Given the description of an element on the screen output the (x, y) to click on. 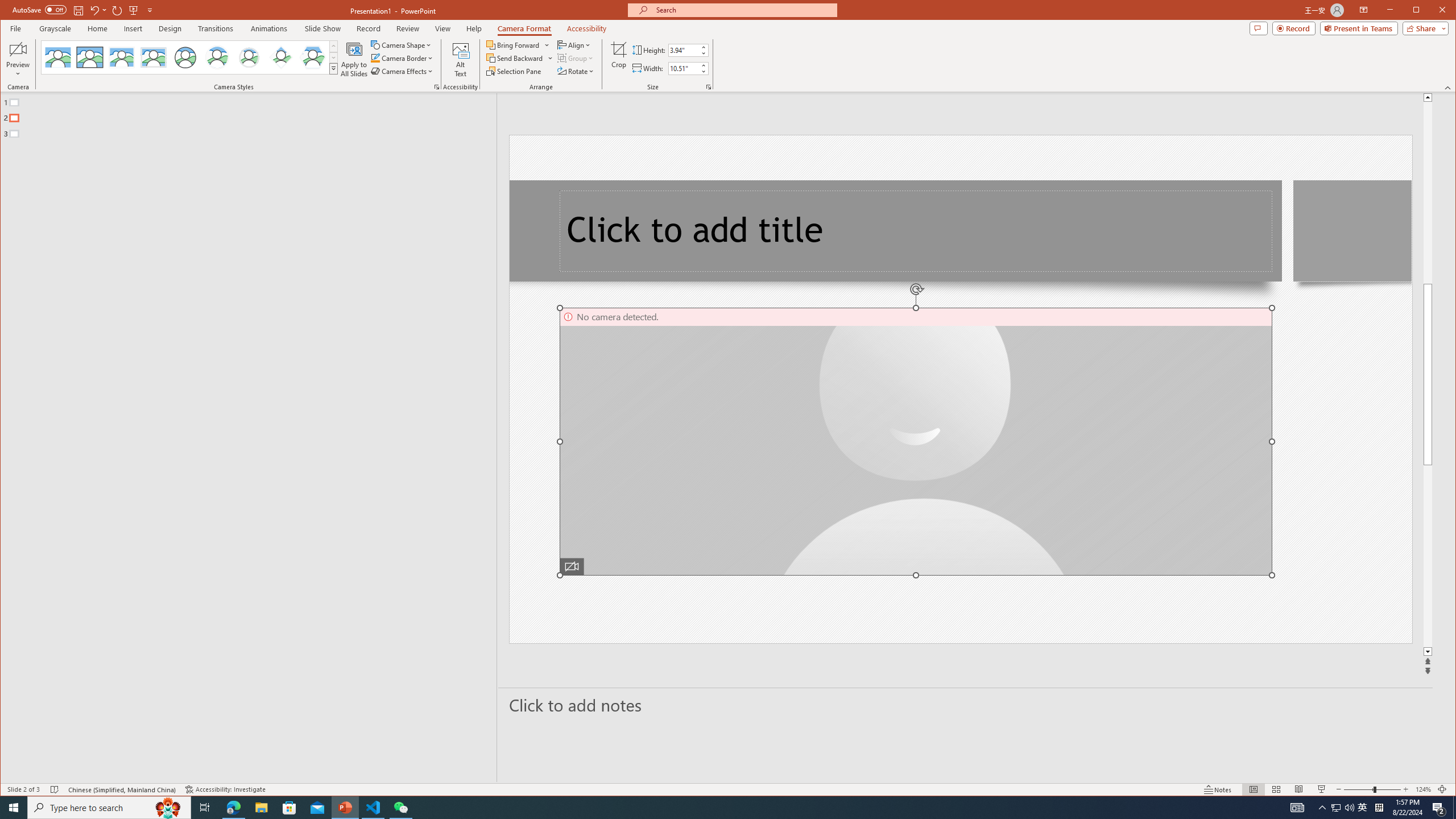
Home (97, 28)
Slide Notes (965, 704)
AutomationID: 4105 (1297, 807)
Camera 4, No camera detected. (915, 441)
Accessibility Checker Accessibility: Investigate (225, 789)
Spell Check No Errors (55, 789)
Center Shadow Diamond (280, 57)
Soft Edge Rectangle (153, 57)
Zoom In (1405, 789)
Send Backward (520, 57)
Camera Styles (333, 68)
Comments (1258, 28)
